Given the description of an element on the screen output the (x, y) to click on. 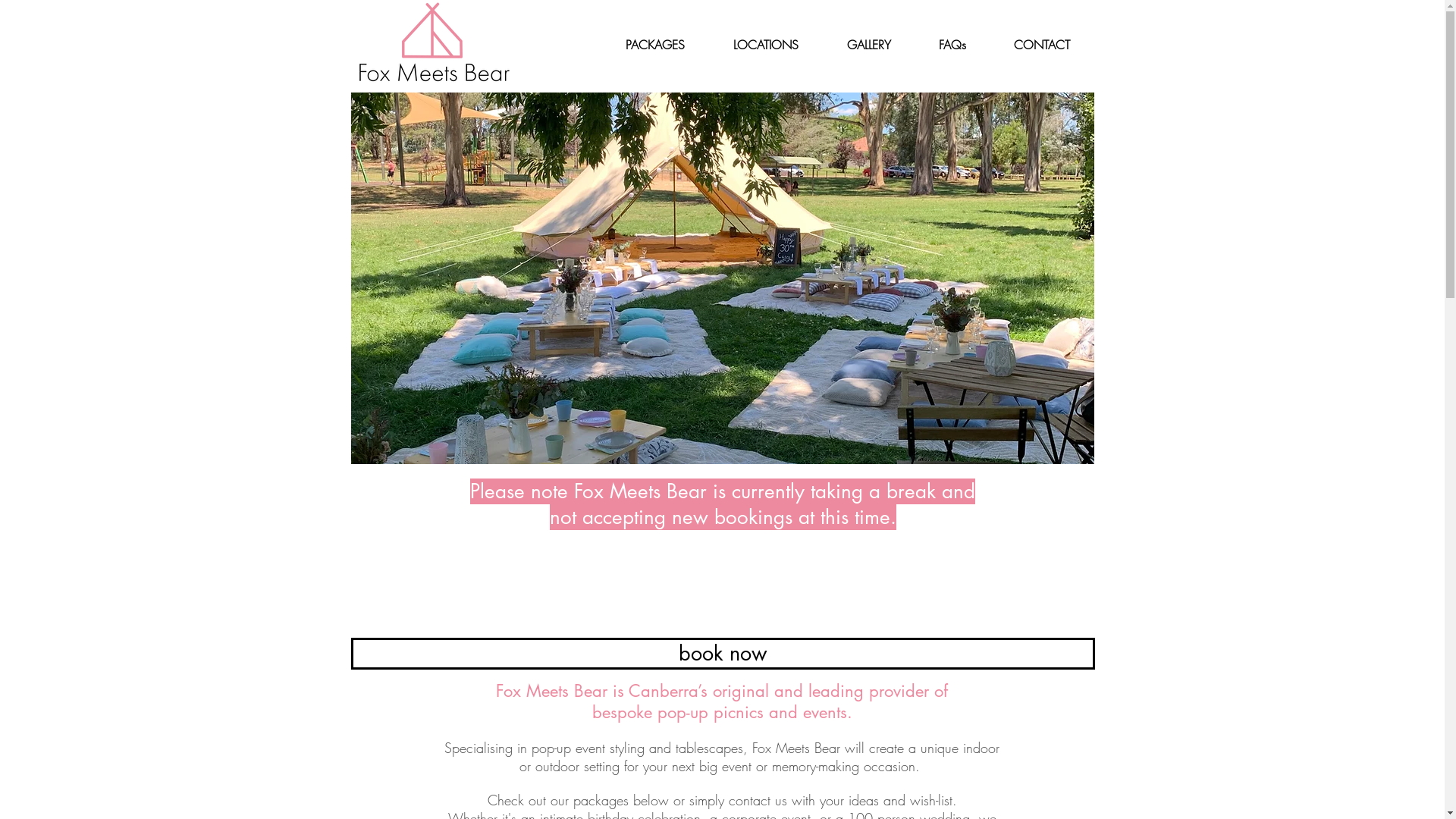
GALLERY Element type: text (868, 44)
book now Element type: text (722, 653)
PACKAGES Element type: text (654, 44)
FAQs Element type: text (951, 44)
CONTACT Element type: text (1042, 44)
LOCATIONS Element type: text (765, 44)
